Given the description of an element on the screen output the (x, y) to click on. 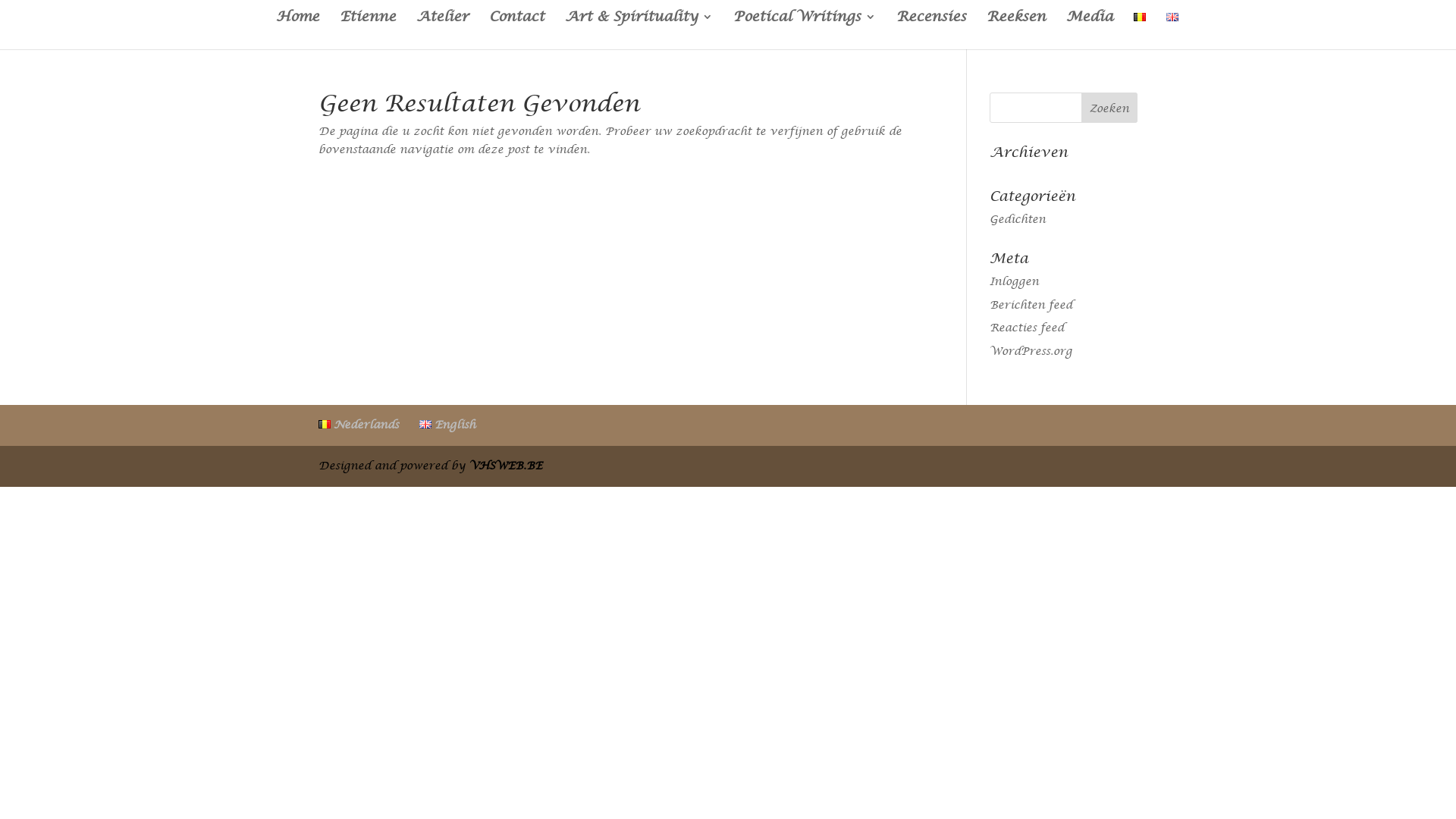
Reacties feed Element type: text (1026, 327)
Etienne Element type: text (367, 30)
Atelier Element type: text (442, 30)
Media Element type: text (1089, 30)
Poetical Writings Element type: text (804, 30)
English Element type: text (447, 424)
Reeksen Element type: text (1015, 30)
Inloggen Element type: text (1013, 280)
Home Element type: text (297, 30)
Zoeken Element type: text (1109, 107)
Contact Element type: text (516, 30)
Gedichten Element type: text (1017, 218)
WordPress.org Element type: text (1030, 350)
Art & Spirituality Element type: text (638, 30)
Nederlands Element type: text (358, 424)
Berichten feed Element type: text (1030, 304)
Recensies Element type: text (931, 30)
VHSWEB.BE Element type: text (505, 465)
